Given the description of an element on the screen output the (x, y) to click on. 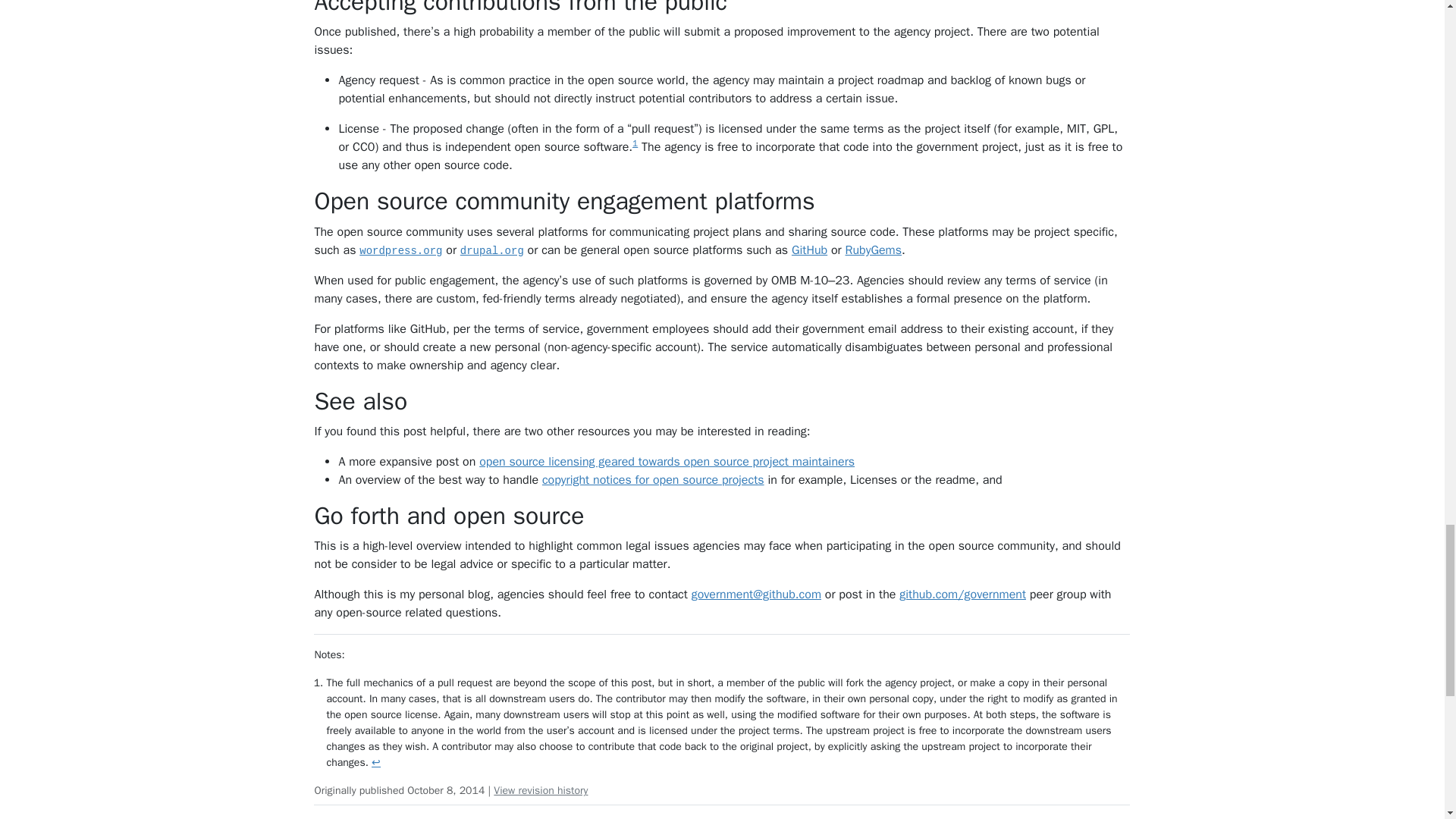
wordpress.org (400, 249)
drupal.org (492, 249)
GitHub (809, 249)
RubyGems (873, 249)
copyright notices for open source projects (652, 479)
